Given the description of an element on the screen output the (x, y) to click on. 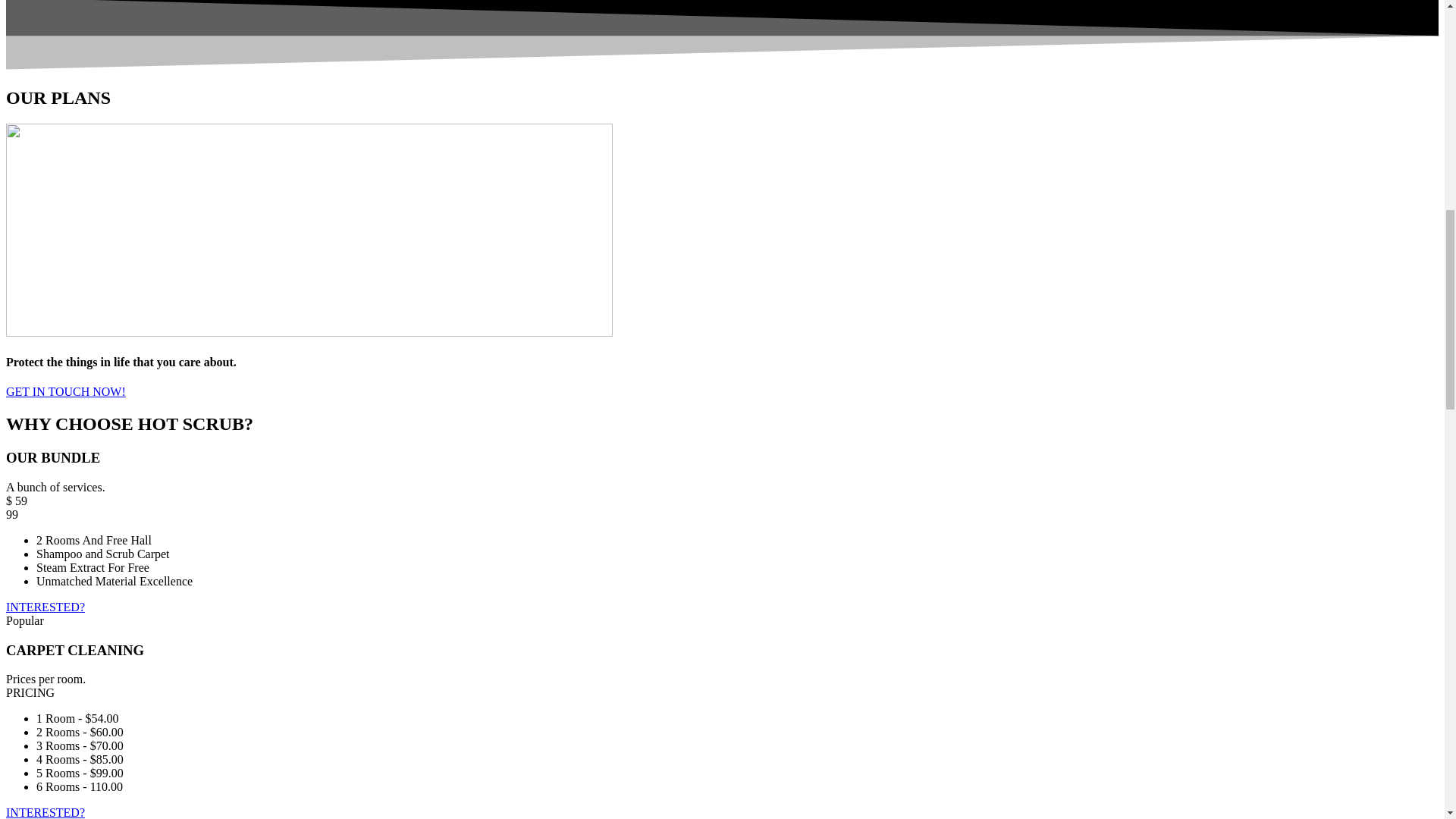
INTERESTED? (44, 812)
INTERESTED? (44, 606)
GET IN TOUCH NOW! (65, 391)
